Given the description of an element on the screen output the (x, y) to click on. 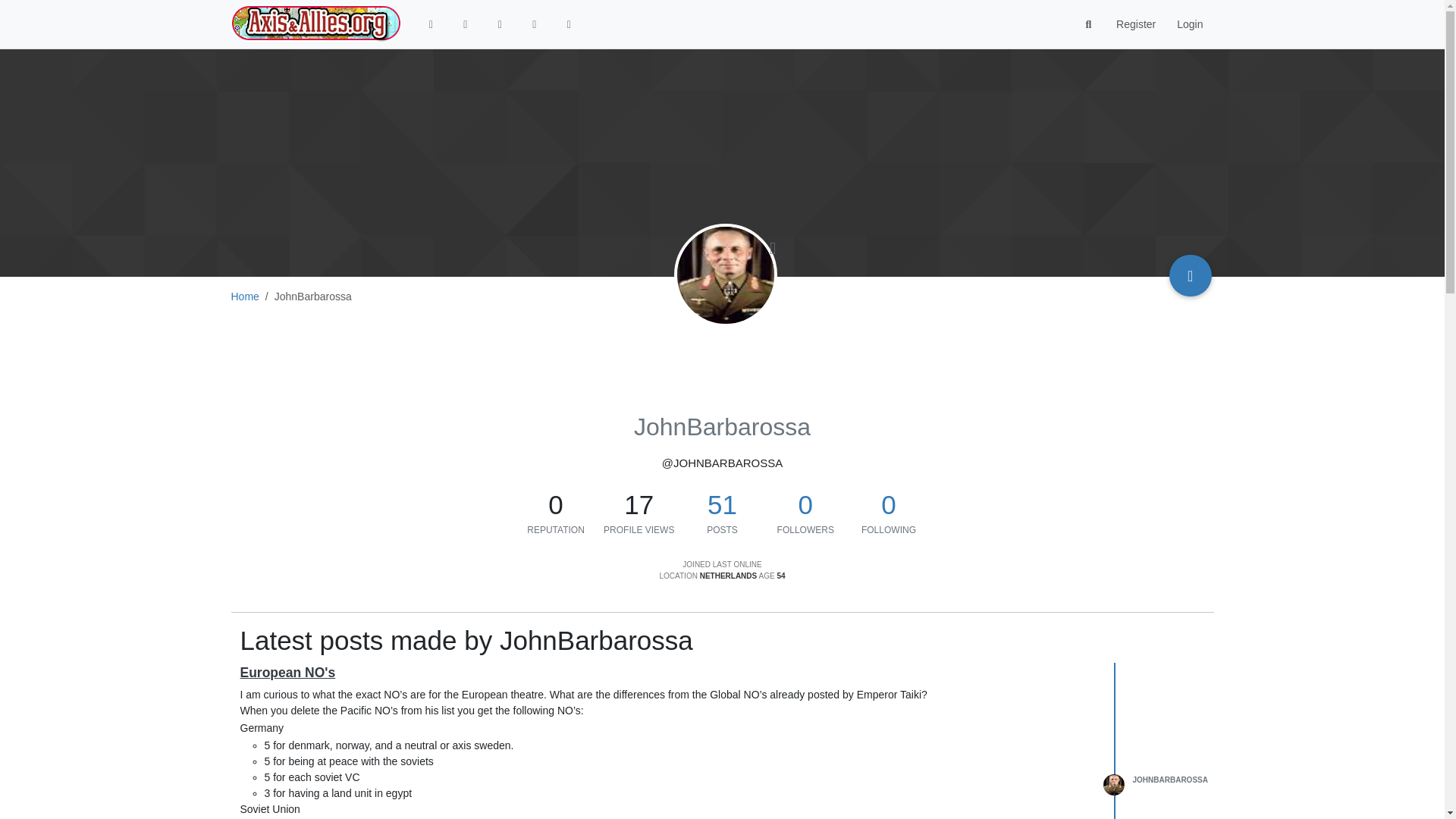
Advertisement (662, 361)
Login (1189, 24)
Categories (465, 24)
JOHNBARBAROSSA (1170, 779)
51 (721, 504)
17 (639, 504)
Home (244, 296)
Search (1088, 24)
Register (1135, 24)
Home (430, 24)
